Given the description of an element on the screen output the (x, y) to click on. 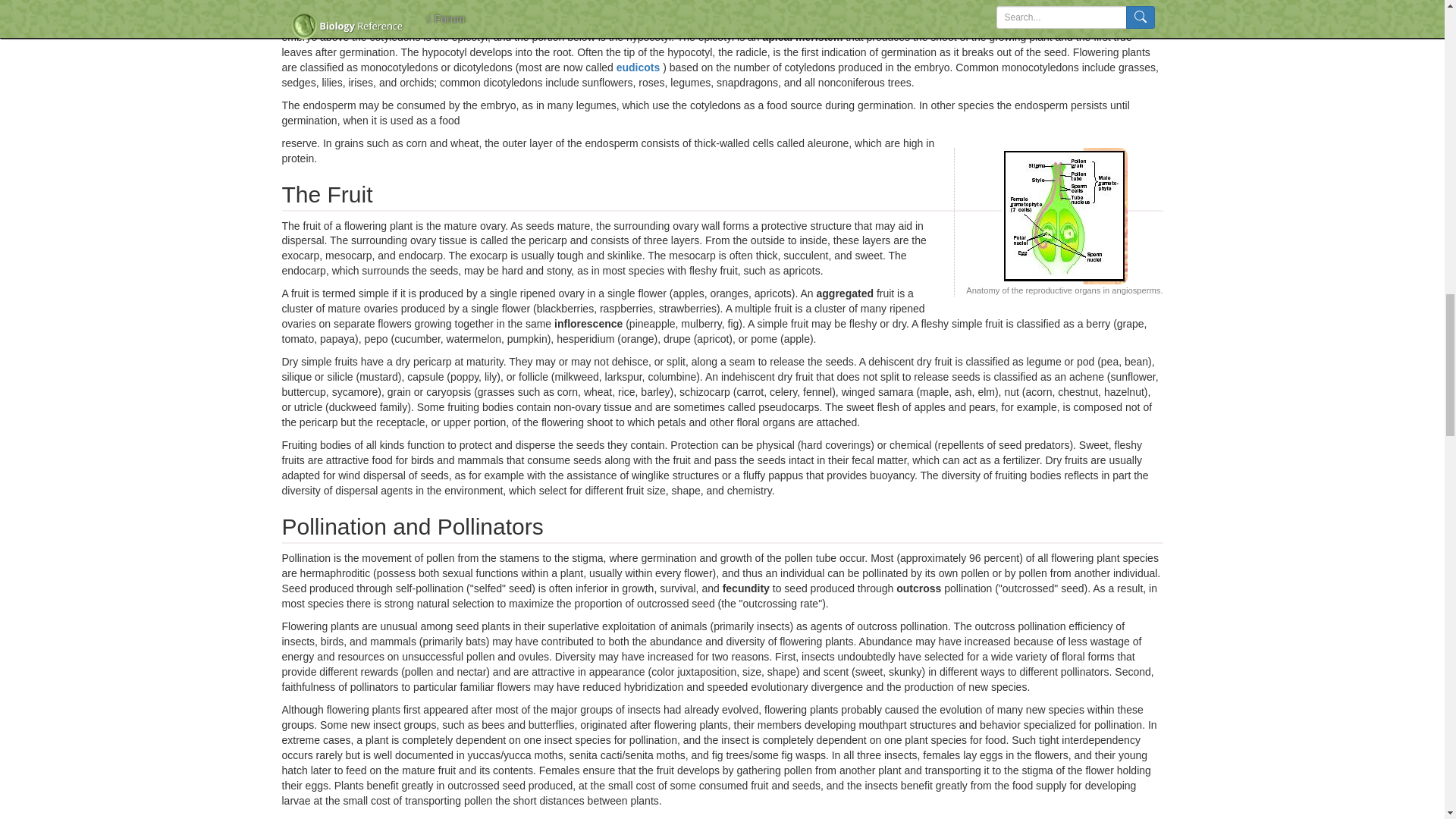
View 'castor bean' definition from Wikipedia (593, 2)
castor bean (593, 2)
eudicots (638, 67)
